Given the description of an element on the screen output the (x, y) to click on. 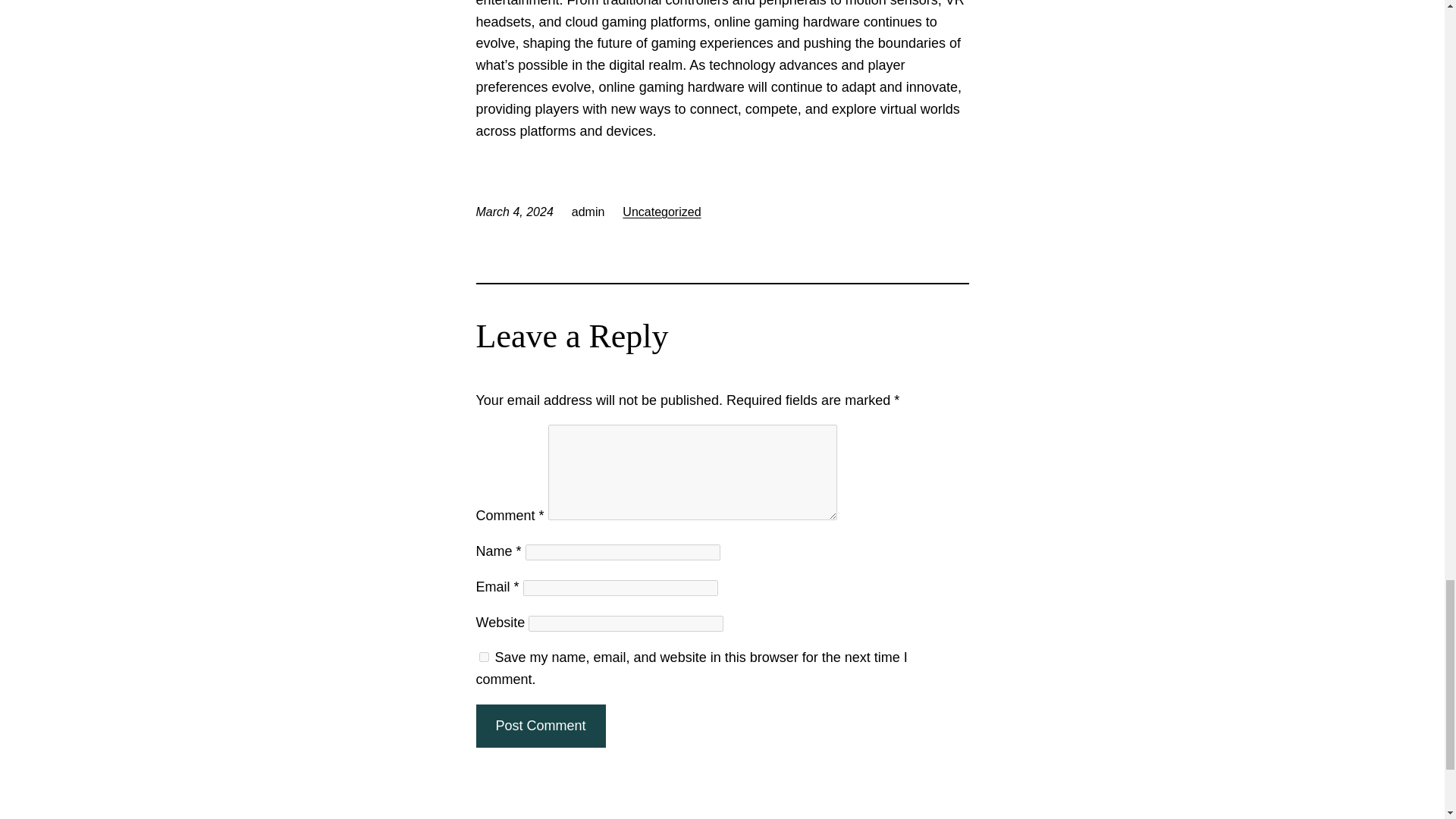
Post Comment (540, 725)
Post Comment (540, 725)
yes (484, 656)
Uncategorized (661, 211)
